Given the description of an element on the screen output the (x, y) to click on. 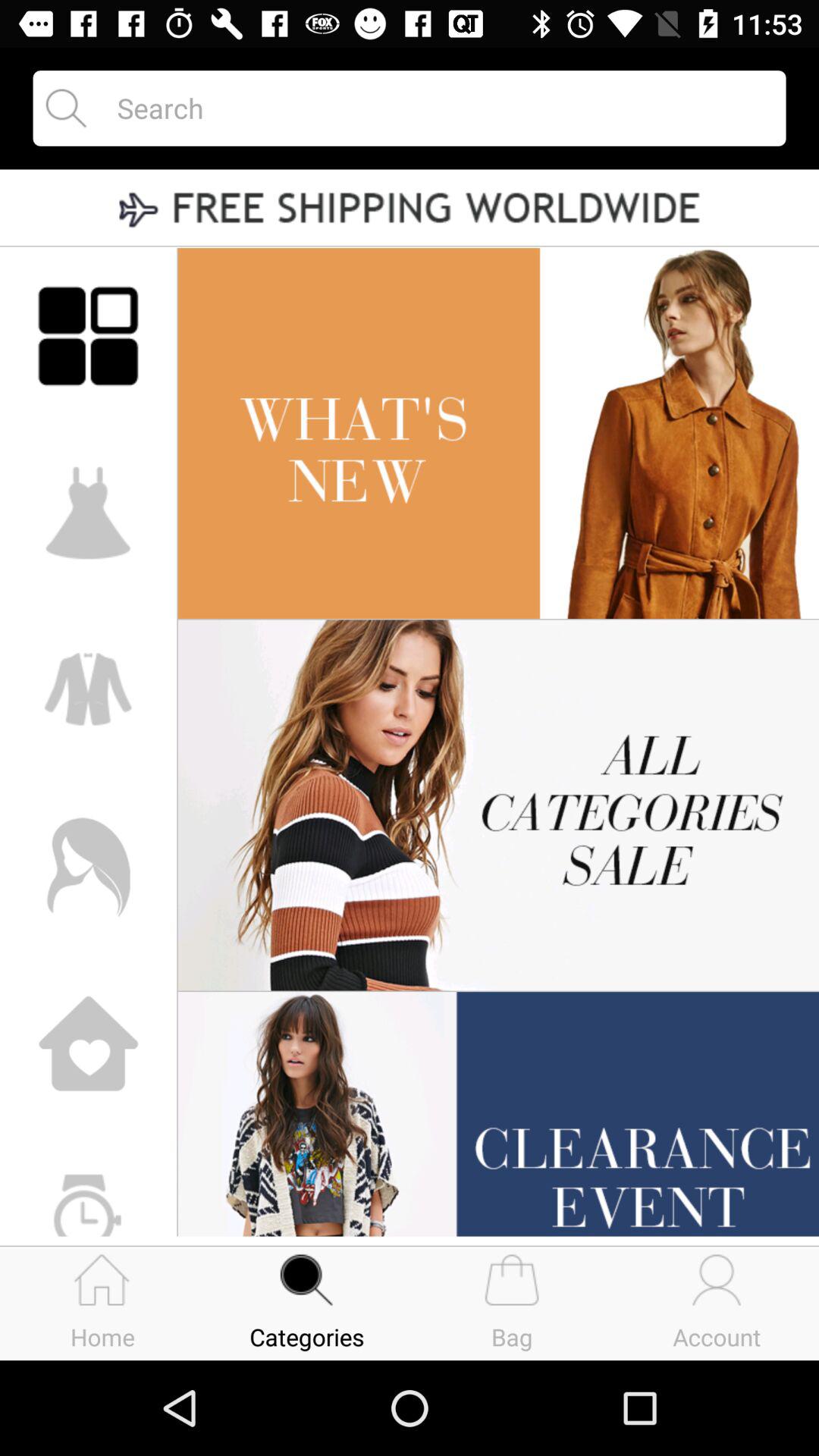
open the search field (437, 108)
